Given the description of an element on the screen output the (x, y) to click on. 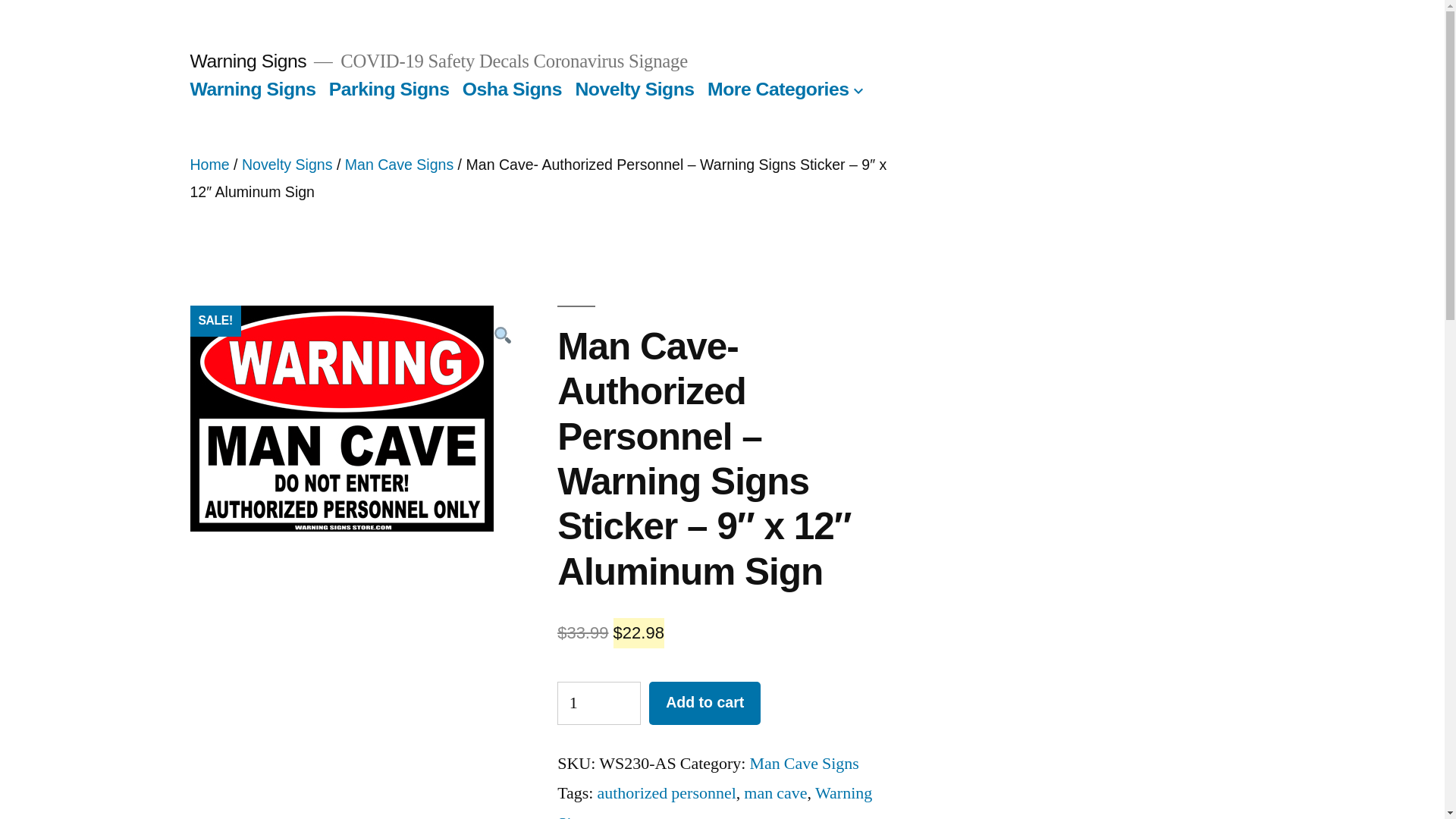
man cave unauthorized personnel (341, 418)
Osha Signs (512, 88)
Novelty Signs (287, 164)
authorized personnel (665, 792)
Parking Signs (389, 88)
Man Cave Signs (804, 762)
1 (598, 702)
Warning Signs (247, 60)
Man Cave Signs (398, 164)
Qty (598, 702)
